Given the description of an element on the screen output the (x, y) to click on. 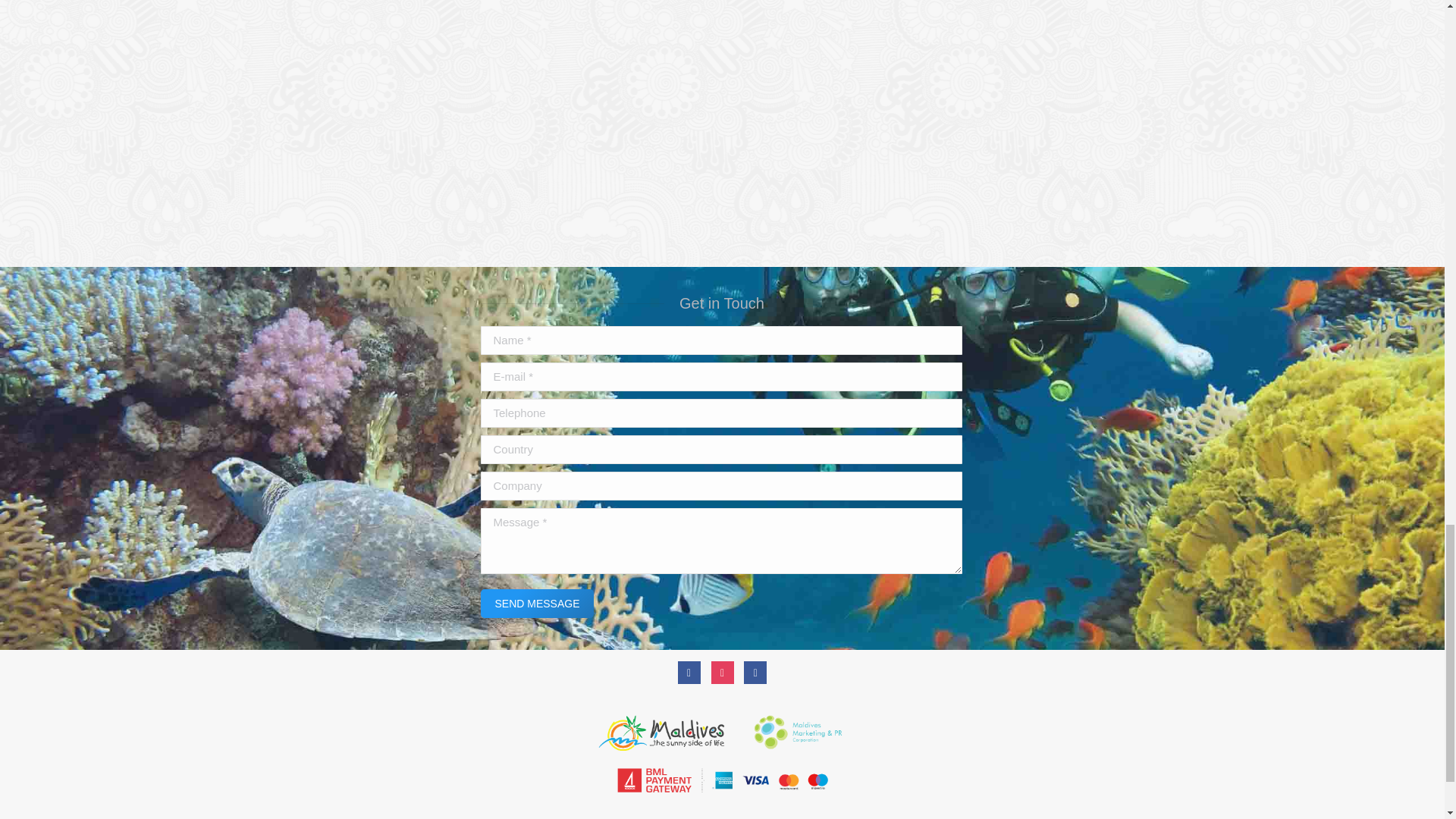
submit (639, 603)
